Given the description of an element on the screen output the (x, y) to click on. 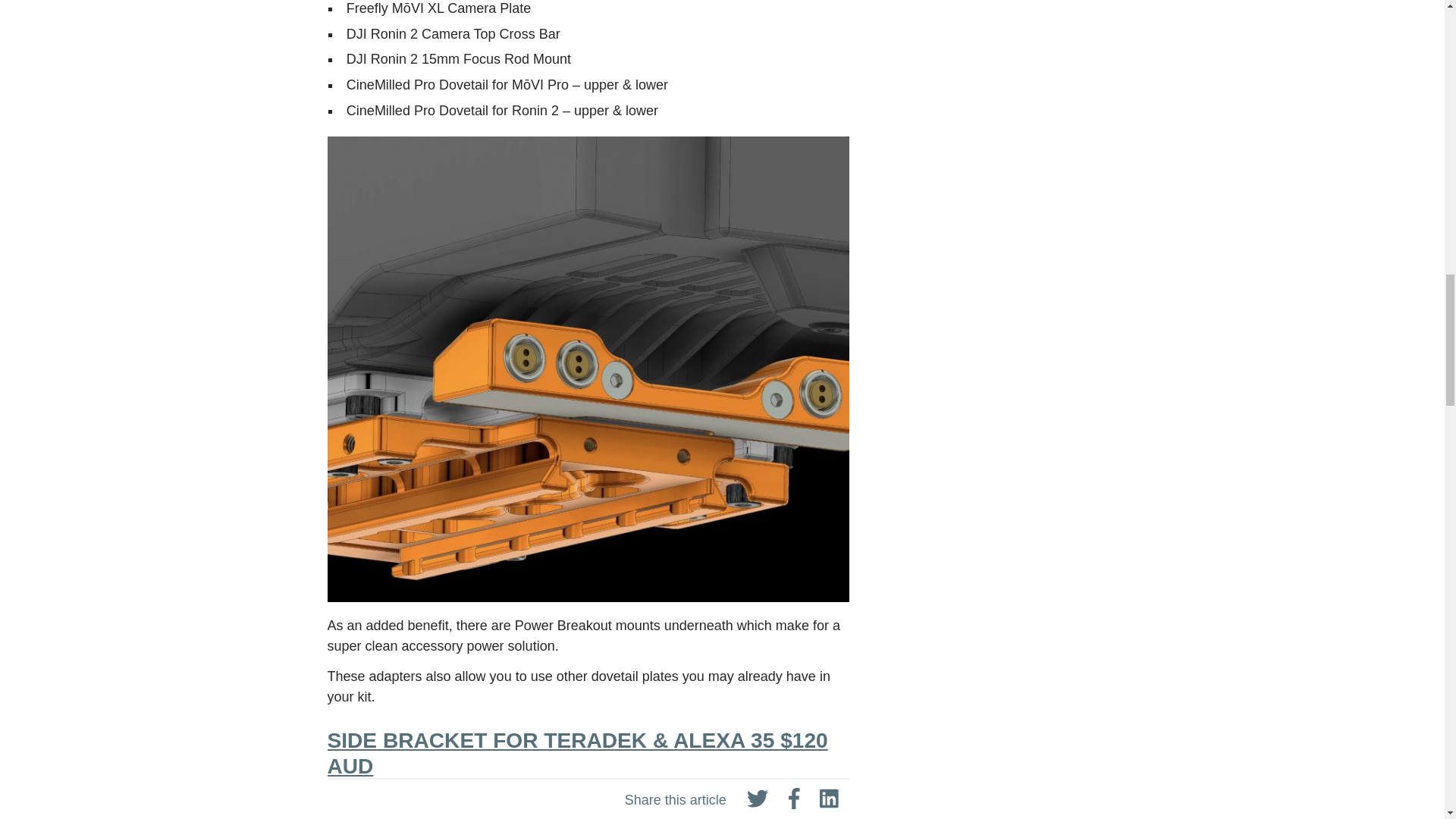
3rd party ad content (1018, 790)
3rd party ad content (1018, 647)
3rd party ad content (1018, 28)
